Given the description of an element on the screen output the (x, y) to click on. 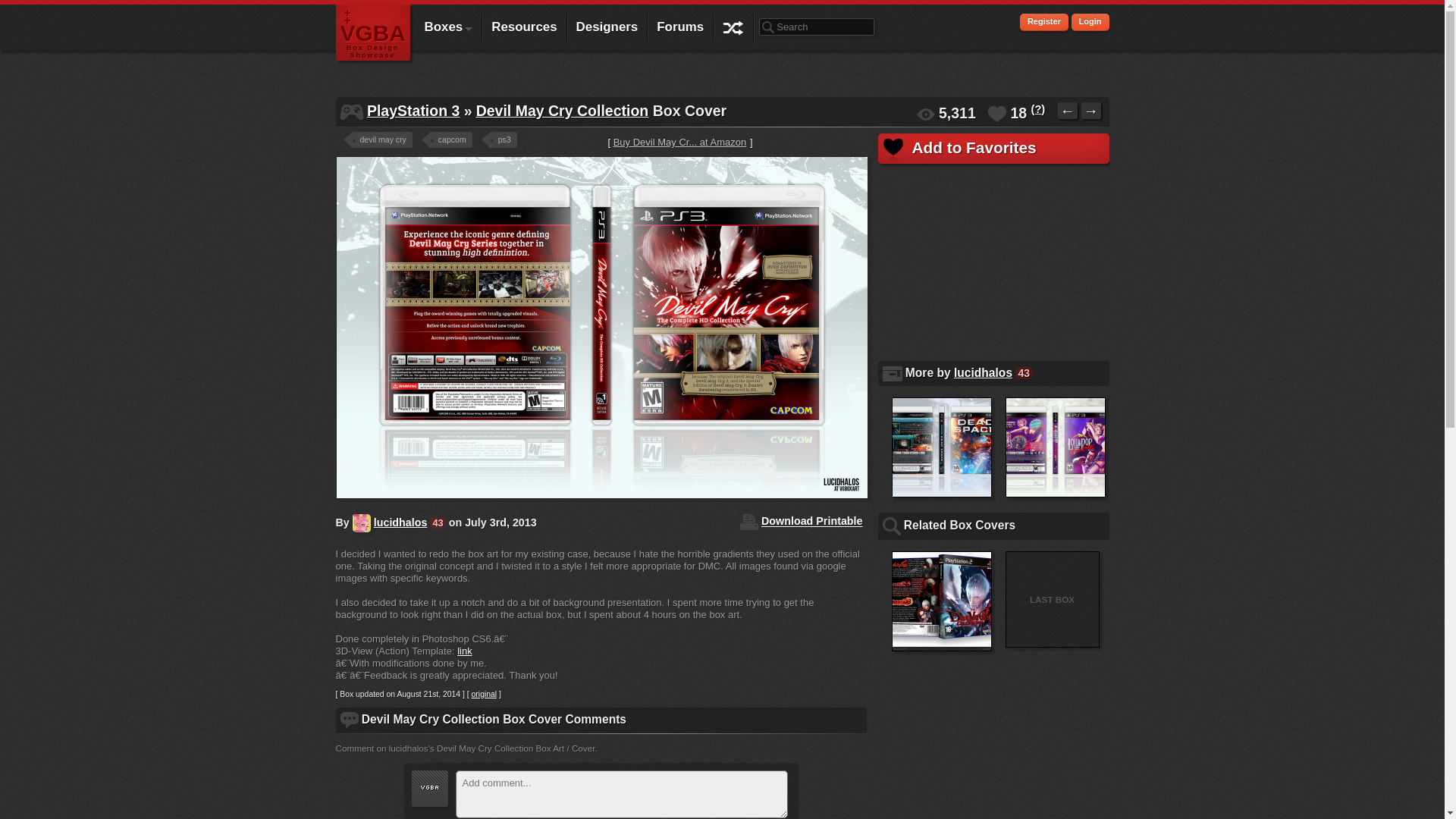
Next PlayStation 3 box (1090, 110)
Video Game (350, 111)
Join VGBoxArt! (1044, 22)
Previous PlayStation 3 box (1067, 110)
Views (925, 114)
See who liked this box (1037, 109)
Box Comments (348, 719)
Download the printable version of this box (811, 521)
Printable Box (748, 521)
View full size Devil May Cry Collection box cover (600, 332)
